Given the description of an element on the screen output the (x, y) to click on. 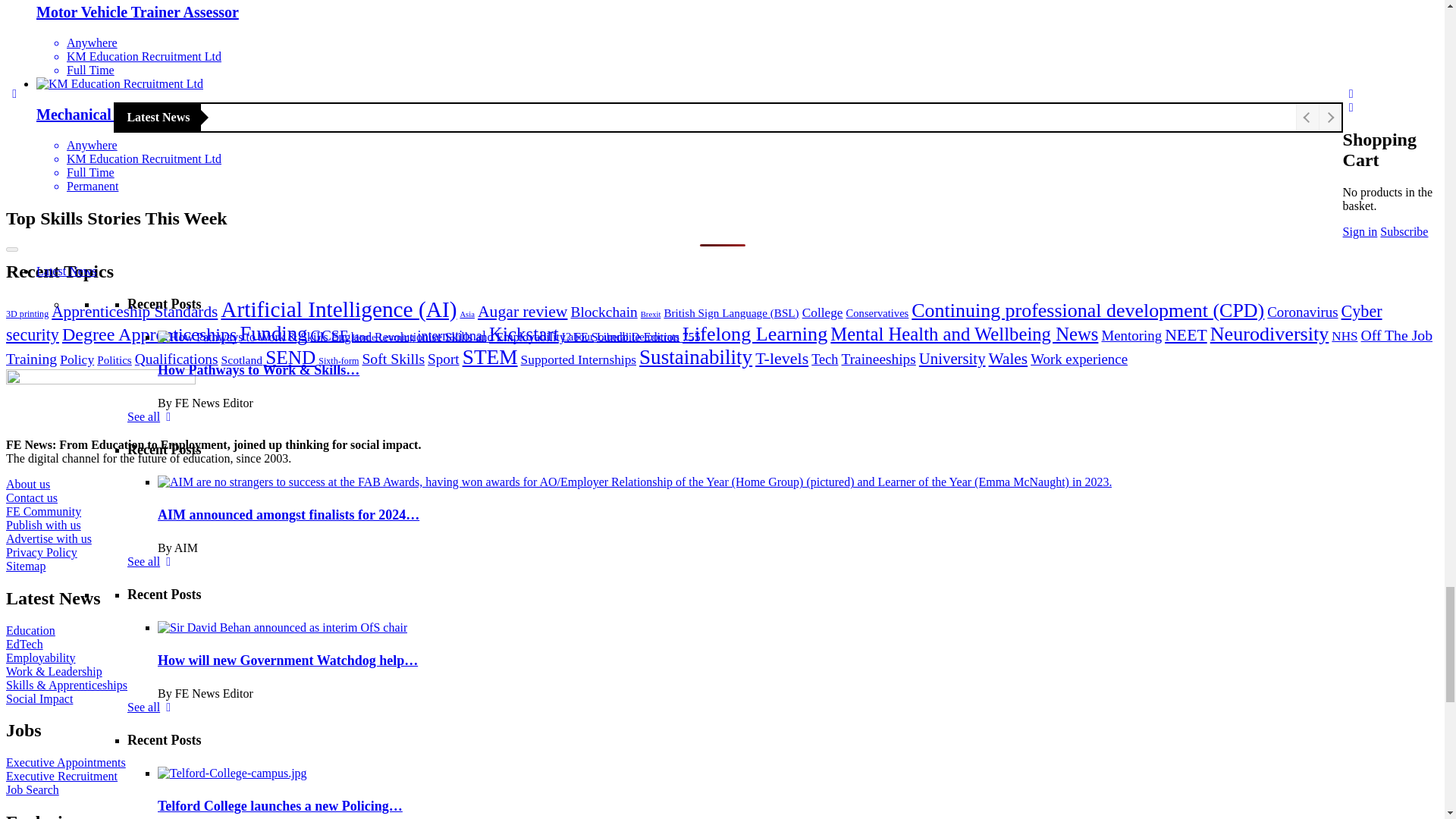
Permalink to Skilfully Speaking (393, 517)
